Given the description of an element on the screen output the (x, y) to click on. 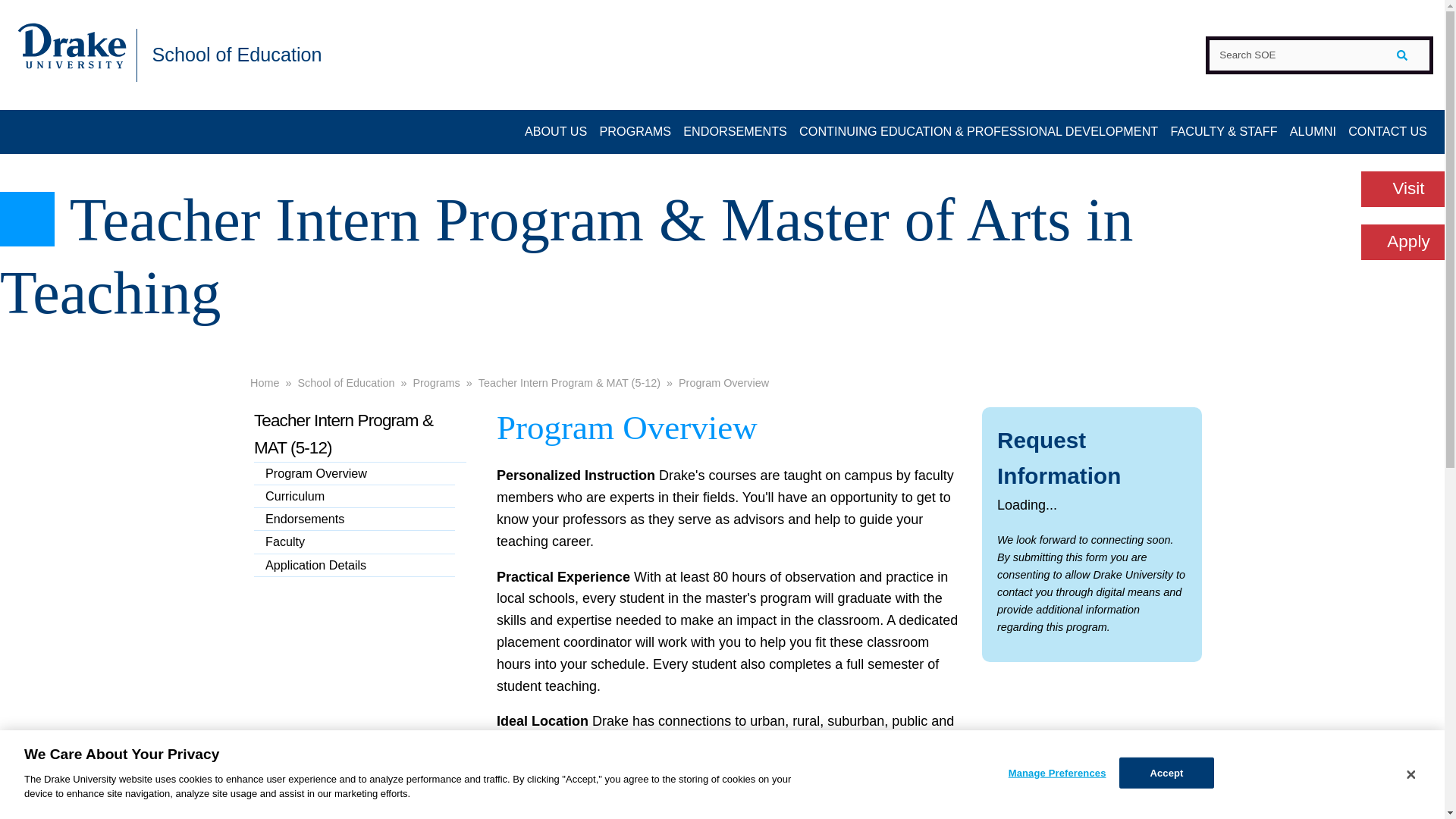
ABOUT US (556, 131)
Search SOE (1318, 55)
School of Education (236, 54)
ENDORSEMENTS (735, 131)
PROGRAMS (634, 131)
Search SOE (1318, 55)
